Given the description of an element on the screen output the (x, y) to click on. 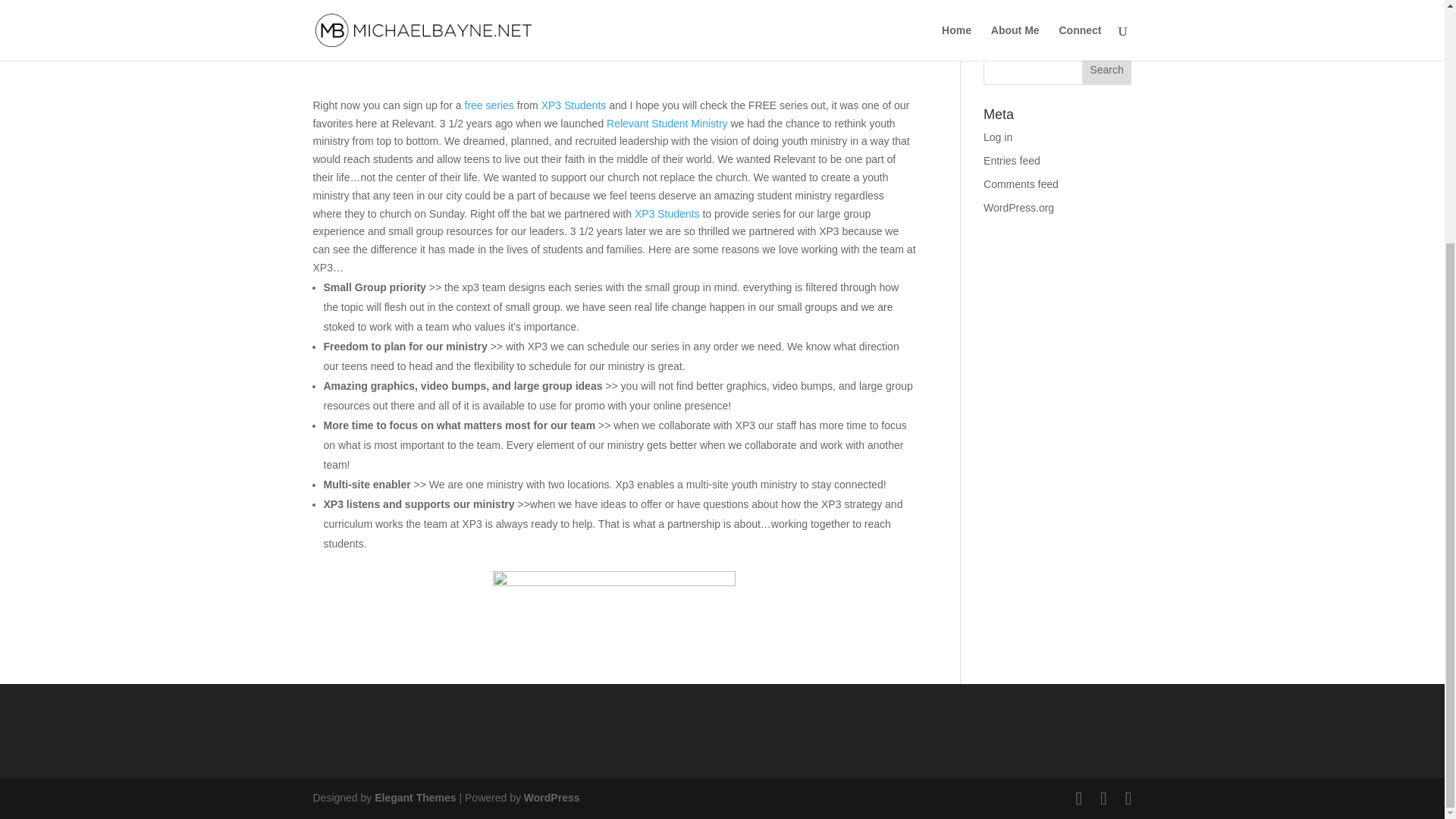
Log in (997, 137)
Search (1106, 69)
Relevant Student Ministry (667, 123)
Elegant Themes (414, 797)
Entries feed (1012, 160)
Premium WordPress Themes (414, 797)
WordPress.org (1019, 207)
XP3 Students (572, 105)
Search (1106, 69)
XP3 Students (667, 214)
Comments feed (1021, 184)
free series (488, 105)
WordPress (551, 797)
